Given the description of an element on the screen output the (x, y) to click on. 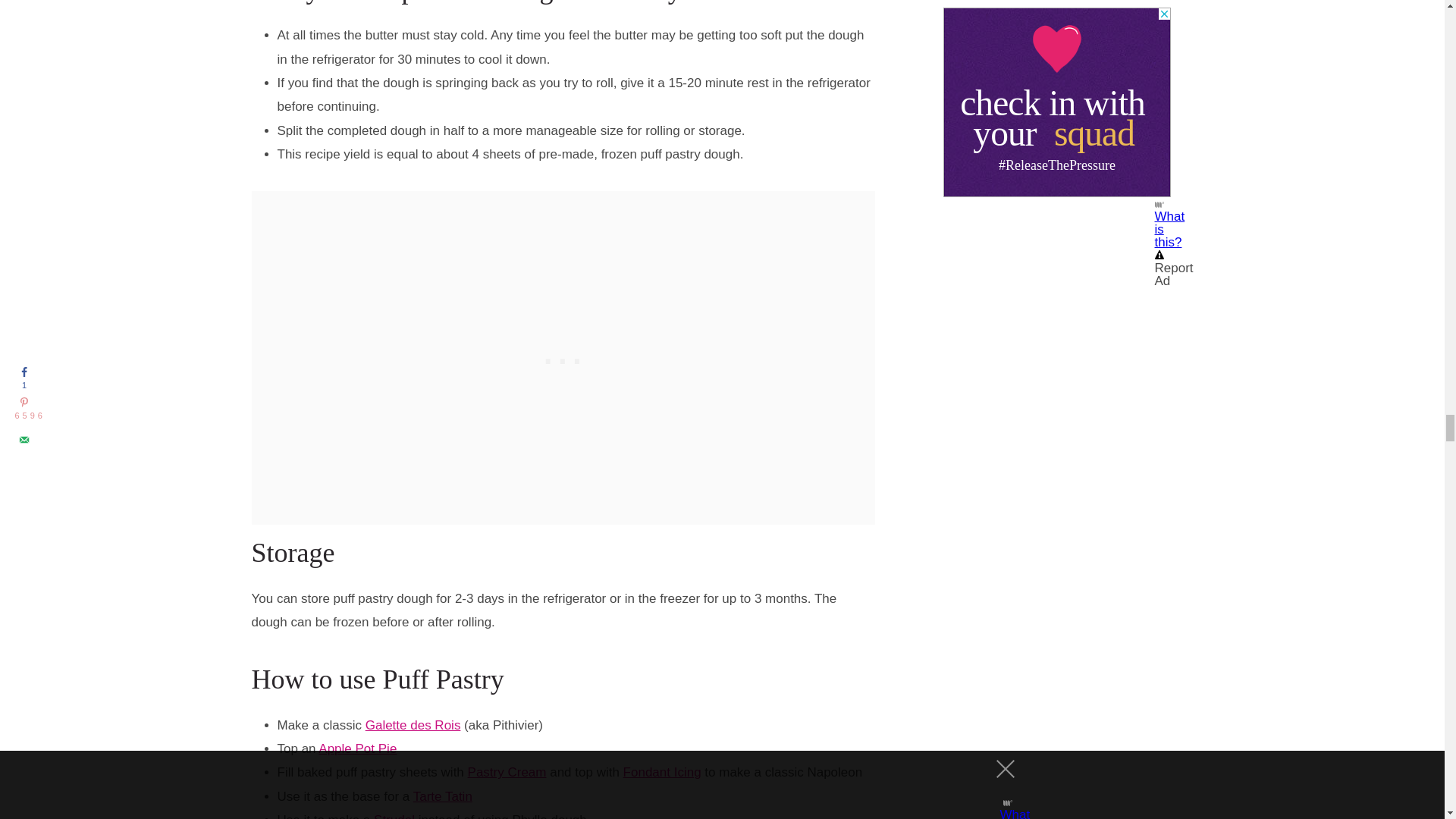
Apple Pot Pie (357, 748)
Pastry Cream (507, 771)
Fondant Icing (662, 771)
Galette des Rois (413, 725)
